Given the description of an element on the screen output the (x, y) to click on. 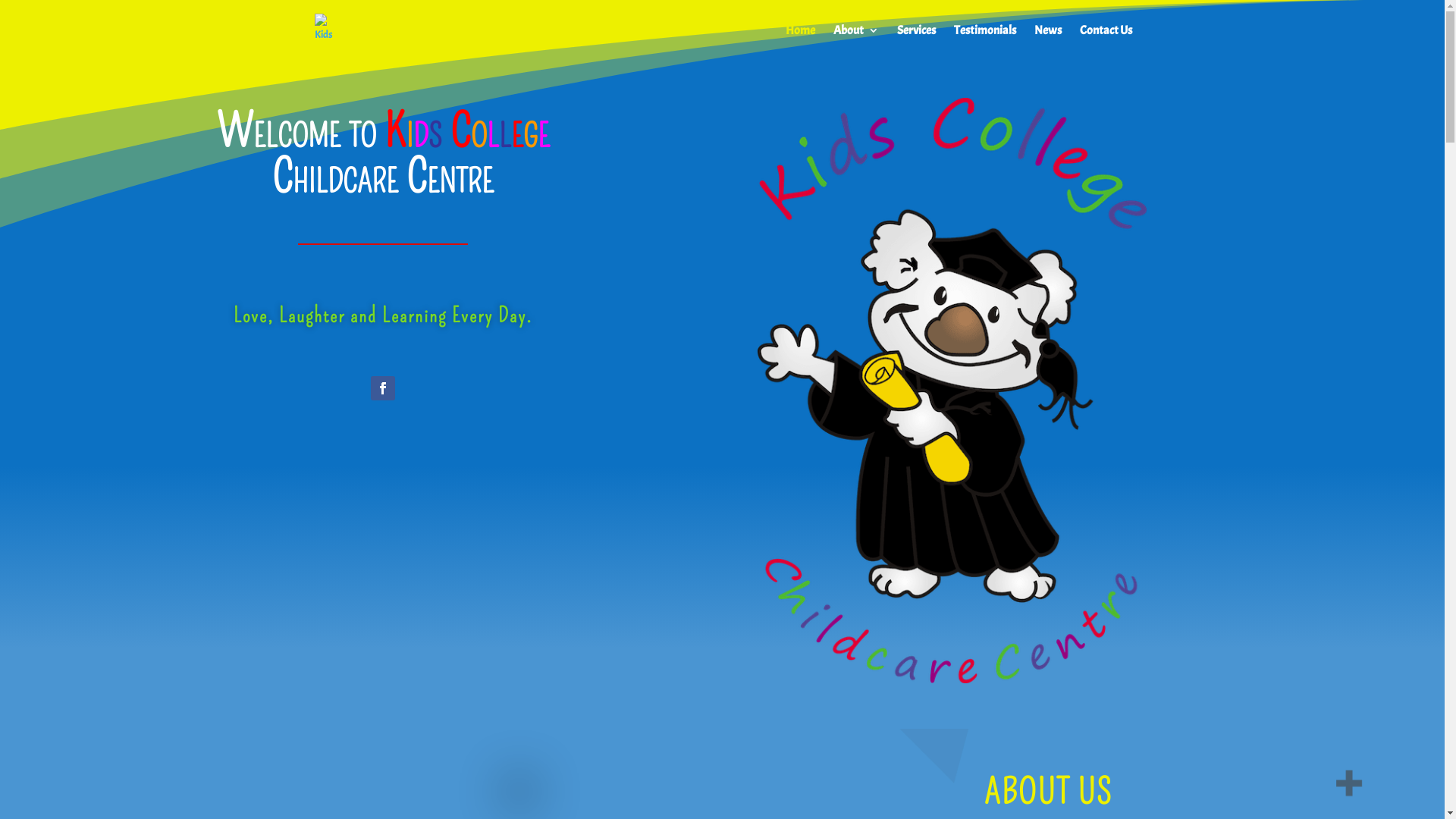
Contact Us Element type: text (1105, 42)
Home Element type: text (800, 42)
About Element type: text (855, 42)
Services Element type: text (915, 42)
Testimonials Element type: text (984, 42)
News Element type: text (1047, 42)
Follow on Facebook Element type: hover (382, 388)
